Given the description of an element on the screen output the (x, y) to click on. 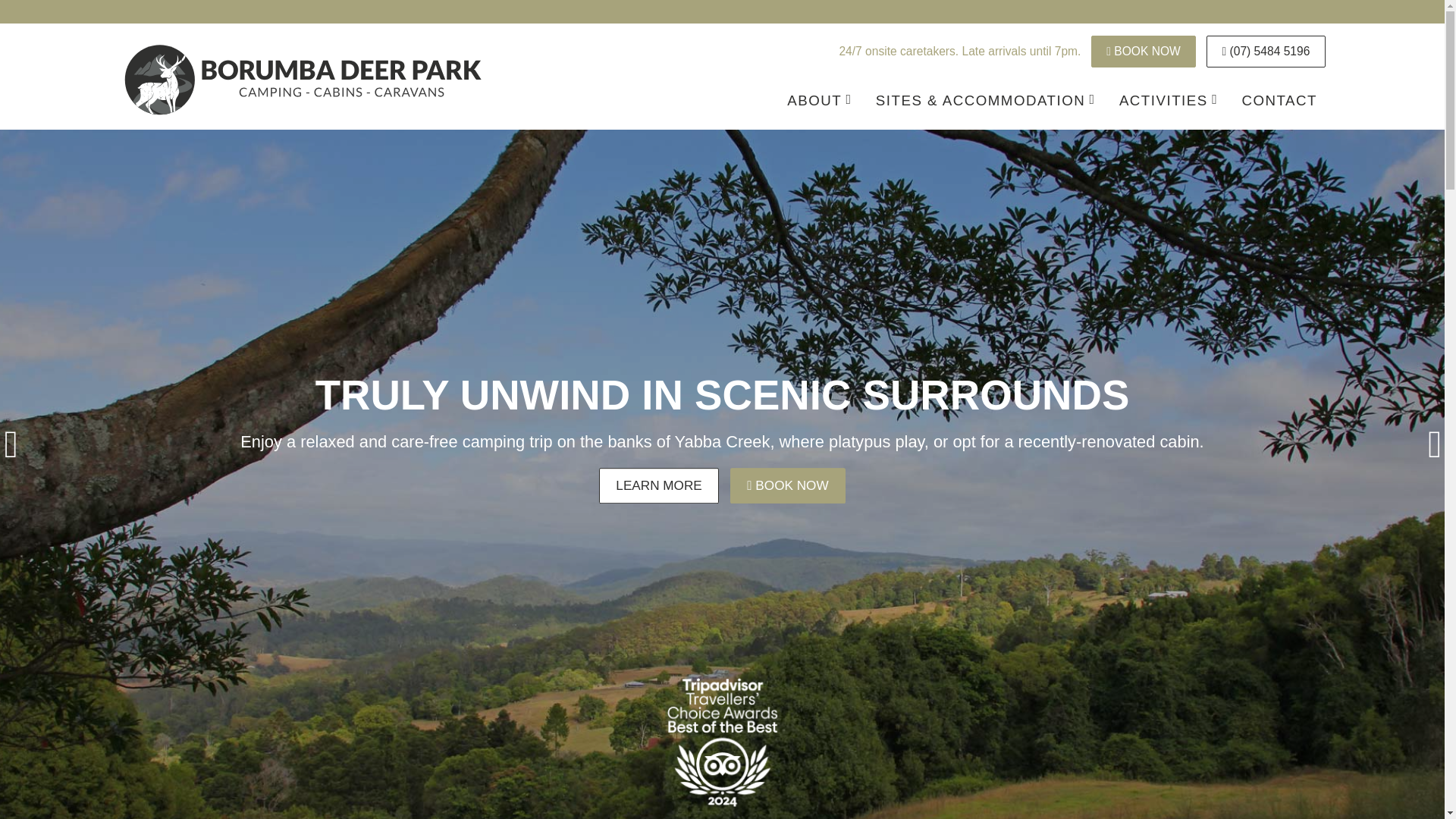
TRULY UNWIND IN SCENIC SURROUNDS (658, 485)
ACTIVITIES (1168, 100)
Borumba Deer Park (302, 78)
Call Borumba Deer Park (1265, 51)
ABOUT (819, 100)
BOOK NOW (1143, 51)
